Given the description of an element on the screen output the (x, y) to click on. 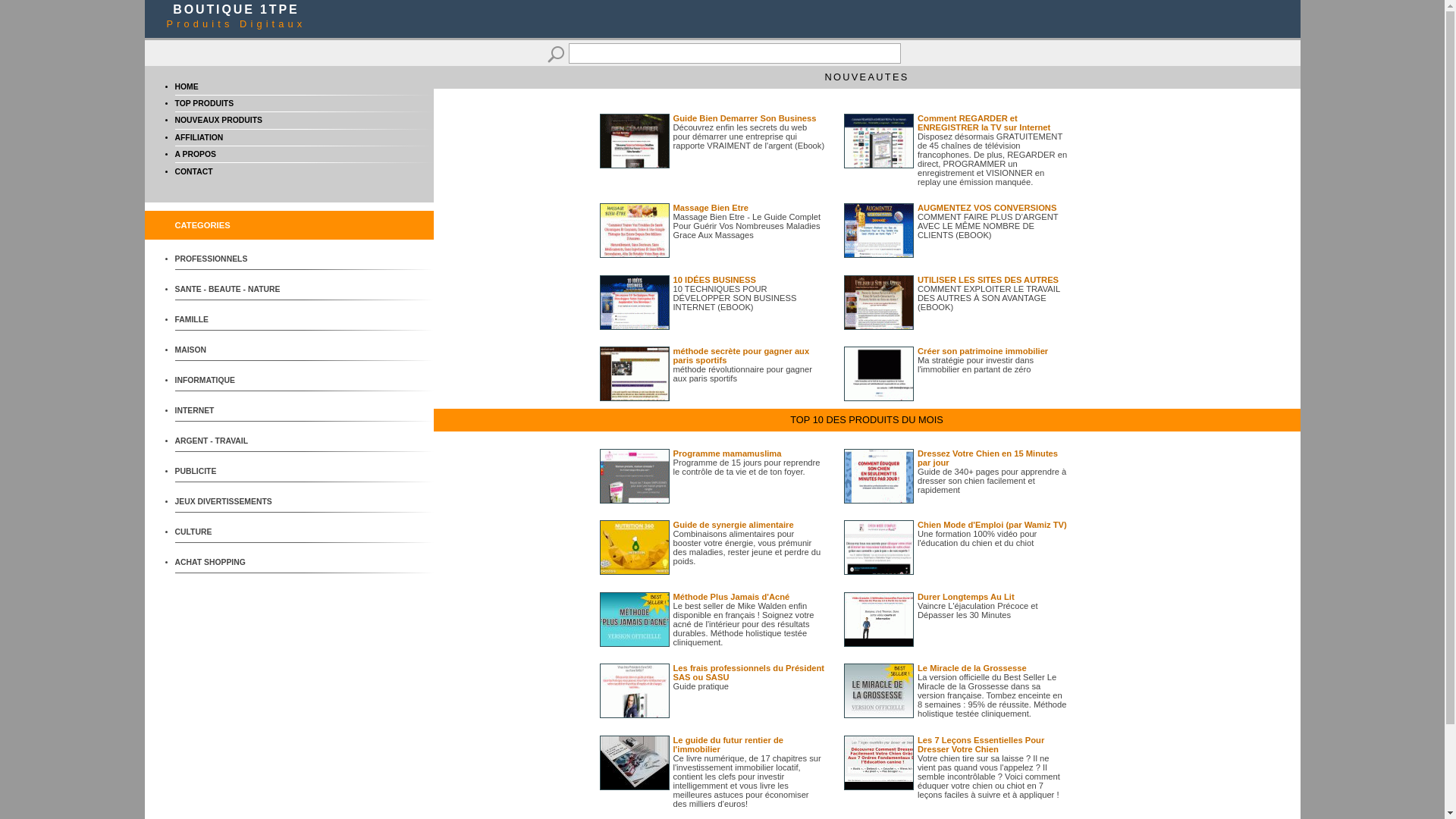
Le guide du futur rentier de l'immobilier Element type: text (728, 744)
FAMILLE Element type: text (231, 319)
HOME Element type: text (185, 86)
Le Miracle de la Grossesse Element type: text (971, 667)
Programme mamamuslima Element type: text (727, 453)
Durer Longtemps Au Lit Element type: text (965, 596)
PROFESSIONNELS Element type: text (231, 258)
SANTE - BEAUTE - NATURE Element type: text (231, 289)
Chien Mode d'Emploi (par Wamiz TV) Element type: text (991, 524)
PUBLICITE Element type: text (231, 471)
INFORMATIQUE Element type: text (231, 380)
ACHAT SHOPPING Element type: text (231, 562)
CONTACT Element type: text (193, 171)
JEUX DIVERTISSEMENTS Element type: text (231, 501)
UTILISER LES SITES DES AUTRES Element type: text (987, 279)
INTERNET Element type: text (231, 410)
CULTURE Element type: text (231, 531)
Massage Bien Etre Element type: text (711, 207)
AUGMENTEZ VOS CONVERSIONS Element type: text (986, 207)
ARGENT - TRAVAIL Element type: text (231, 440)
Dressez Votre Chien en 15 Minutes par jour Element type: text (987, 457)
A PROPOS Element type: text (194, 154)
MAISON Element type: text (231, 349)
Guide de synergie alimentaire Element type: text (733, 524)
AFFILIATION Element type: text (198, 137)
Guide Bien Demarrer Son Business Element type: text (744, 117)
NOUVEAUX PRODUITS Element type: text (217, 120)
Comment REGARDER et ENREGISTRER la TV sur Internet Element type: text (983, 122)
TOP PRODUITS Element type: text (203, 103)
Guide pratique Element type: text (700, 685)
